Given the description of an element on the screen output the (x, y) to click on. 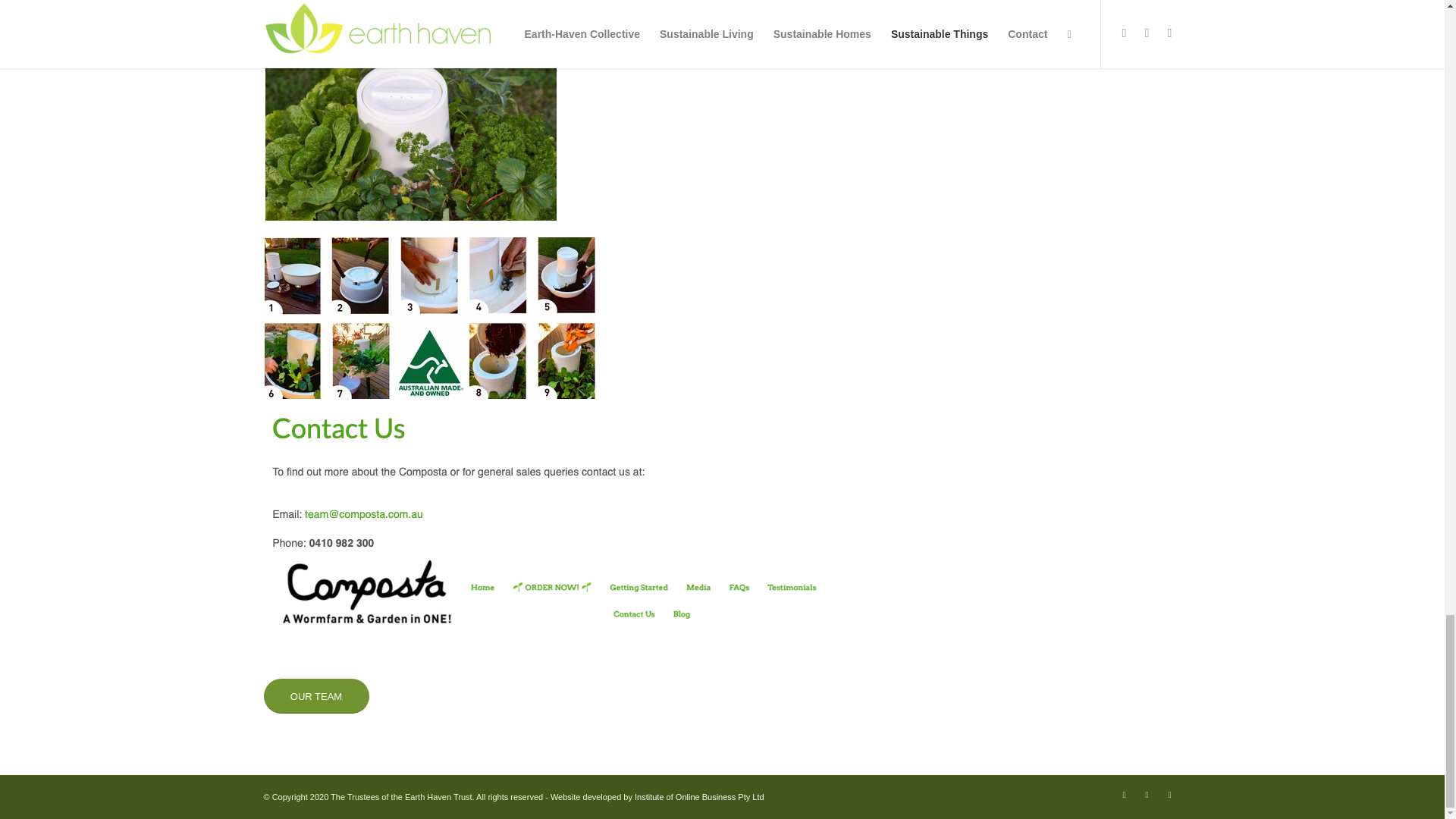
Facebook (1124, 793)
LinkedIn (1169, 793)
Instagram (1146, 793)
